Given the description of an element on the screen output the (x, y) to click on. 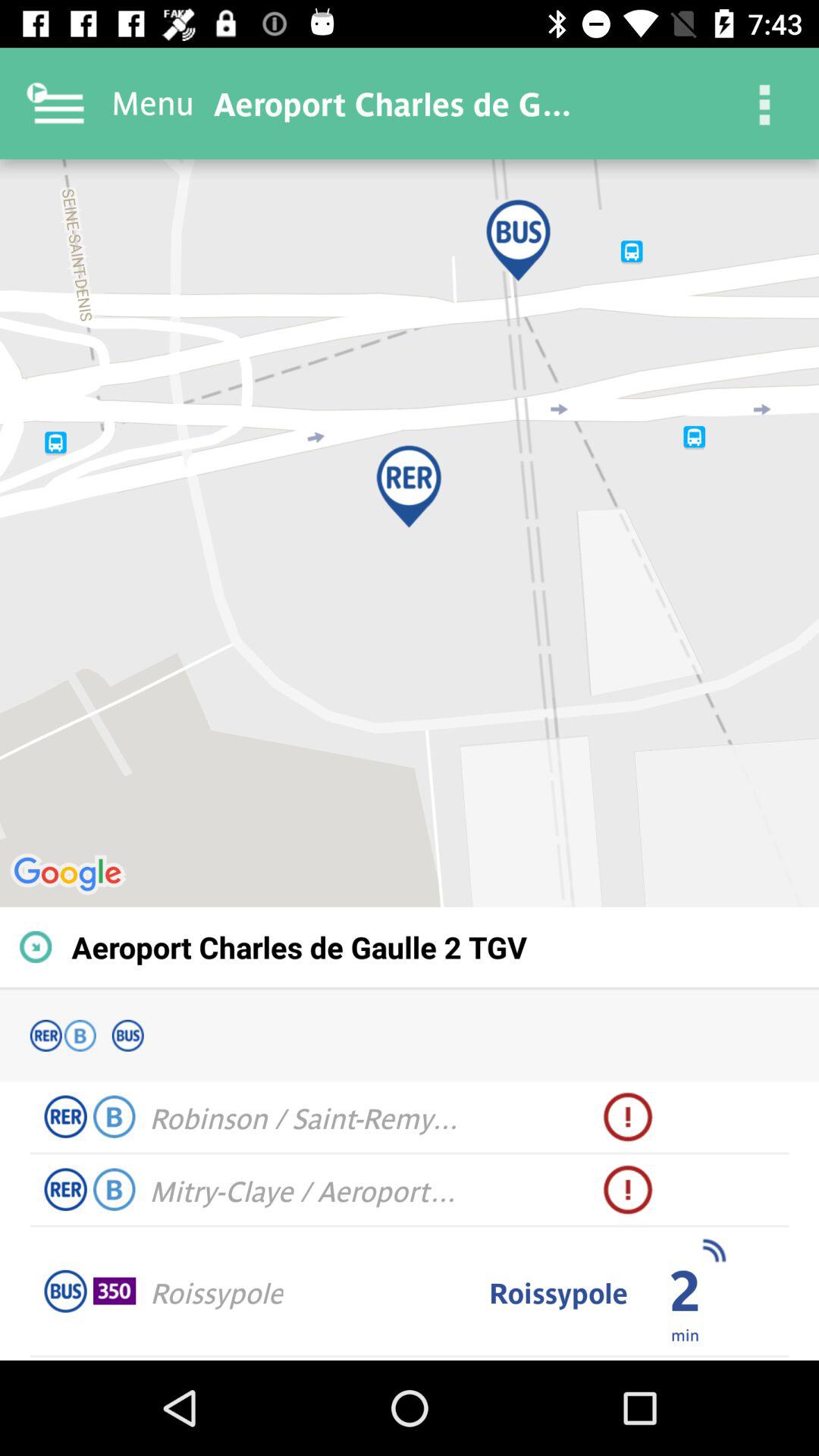
click the item above aeroport charles de (409, 533)
